Given the description of an element on the screen output the (x, y) to click on. 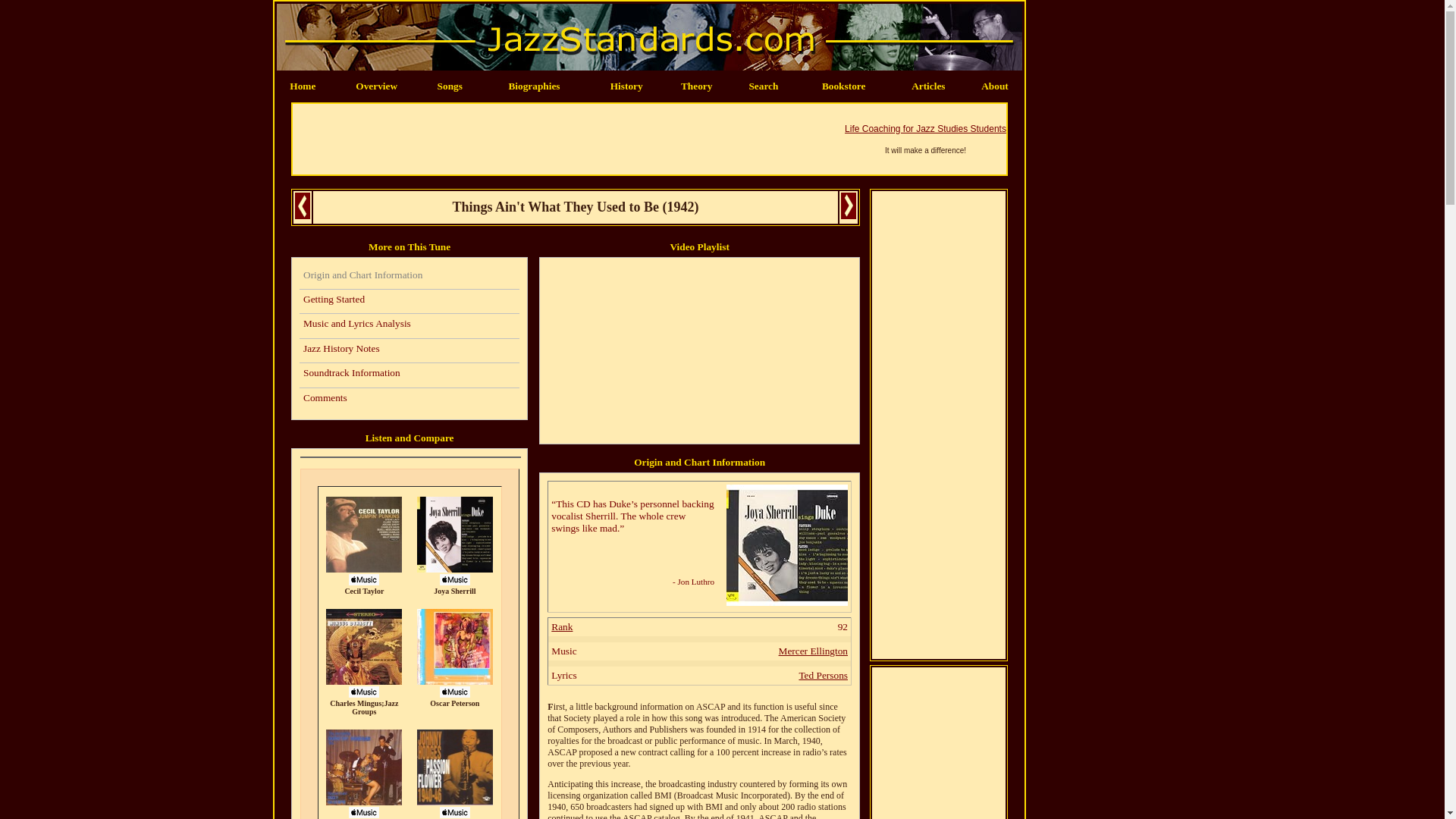
Overview (376, 85)
History (626, 85)
Biographies (533, 85)
Songs (450, 85)
Music and Lyrics Analysis (408, 325)
Click here for more information at Amazon.com (786, 602)
Articles (927, 85)
About (995, 85)
How are the Jazz Standards ranked? (561, 626)
Comments (408, 399)
